Given the description of an element on the screen output the (x, y) to click on. 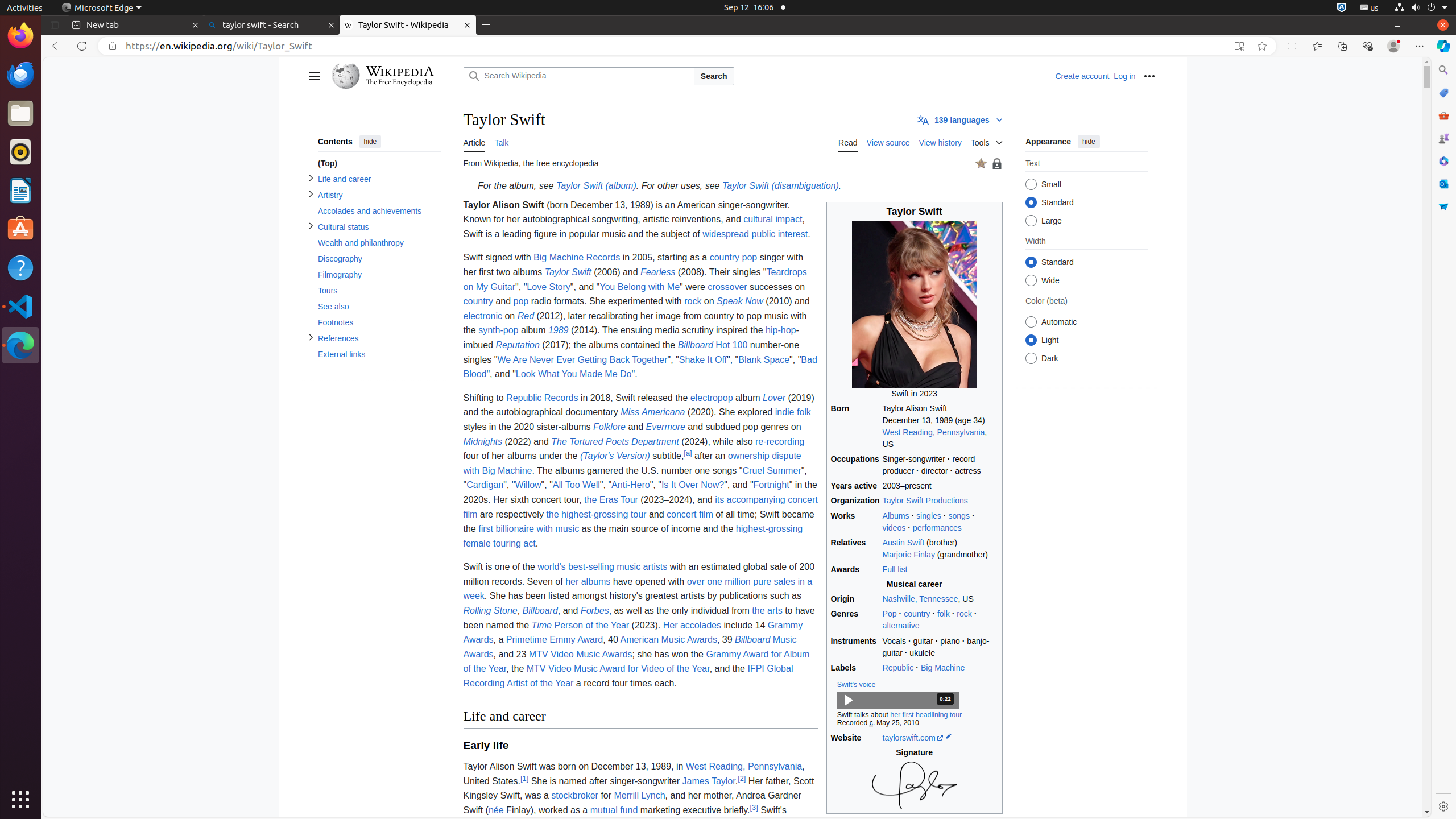
Enter Immersive Reader (F9) Element type: push-button (1238, 46)
Microsoft 365 Element type: push-button (1443, 160)
Toggle Life and career subsection Element type: push-button (310, 177)
Visual Studio Code Element type: push-button (20, 306)
Albums · singles · songs ·videos · performances Element type: table-cell (939, 521)
